Given the description of an element on the screen output the (x, y) to click on. 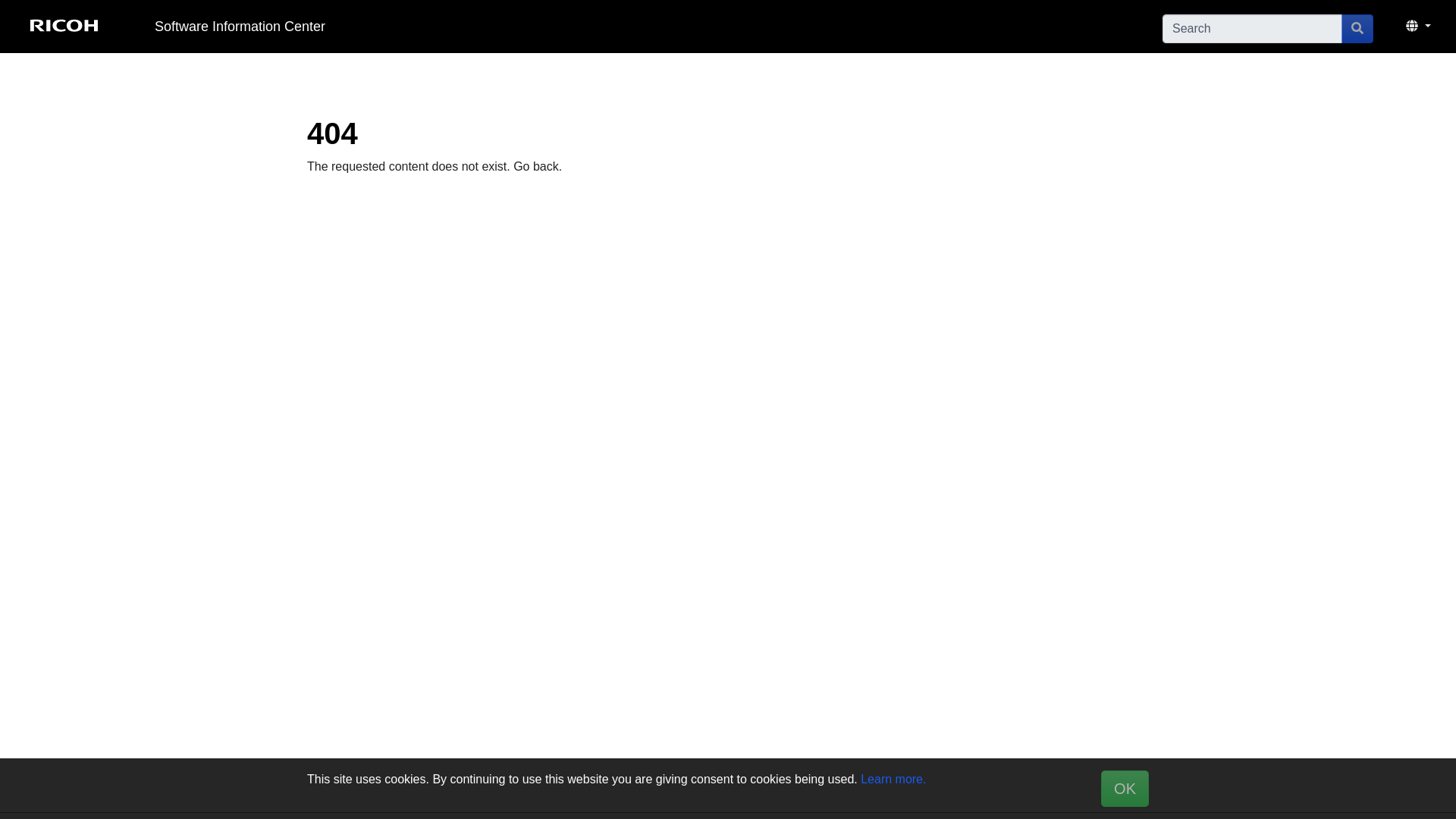
Skip to content (644, 25)
Submit search form (1356, 27)
Language (1418, 26)
Go back. (537, 165)
Software Information Center (239, 26)
